Given the description of an element on the screen output the (x, y) to click on. 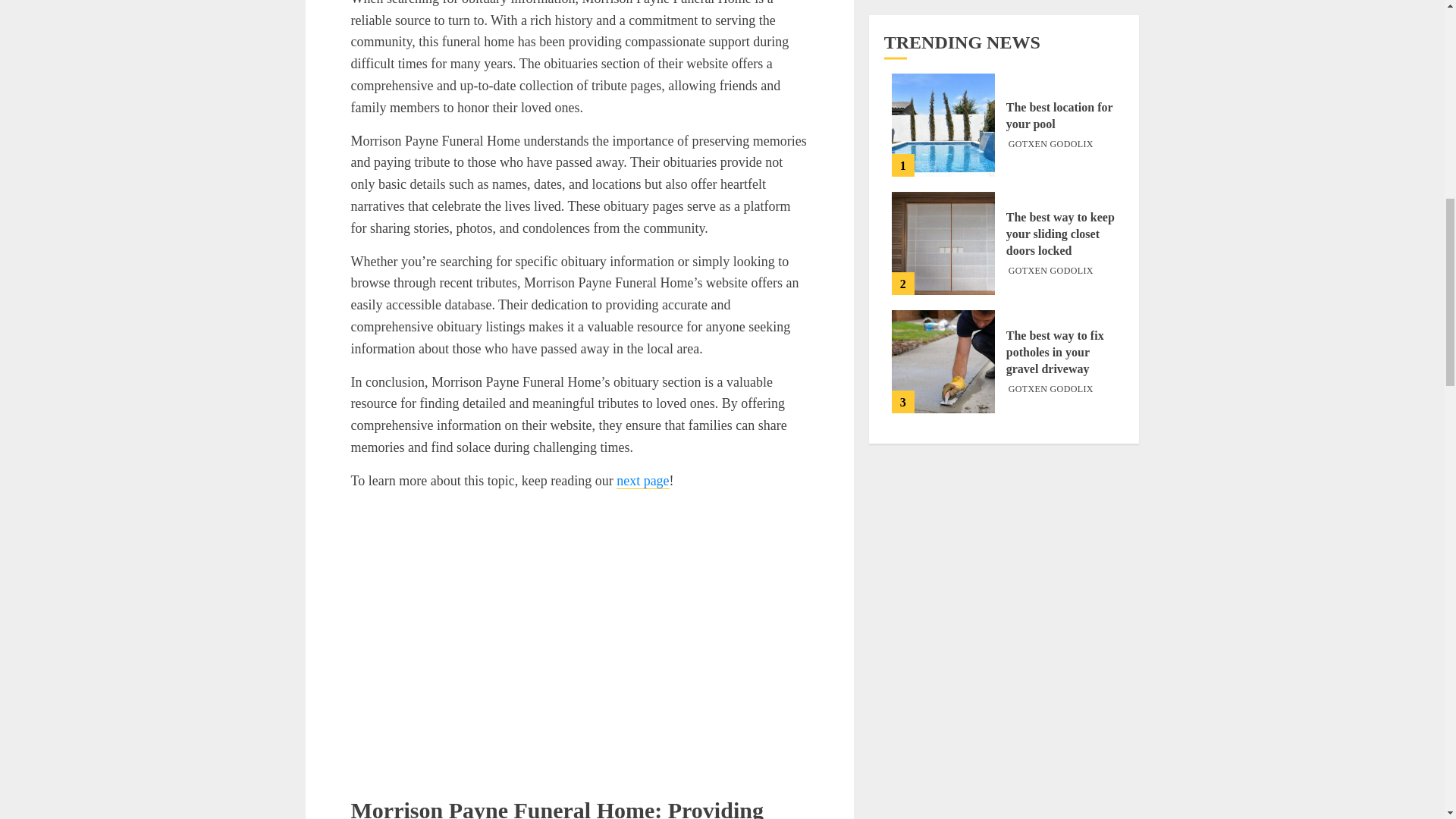
next page (641, 480)
